Given the description of an element on the screen output the (x, y) to click on. 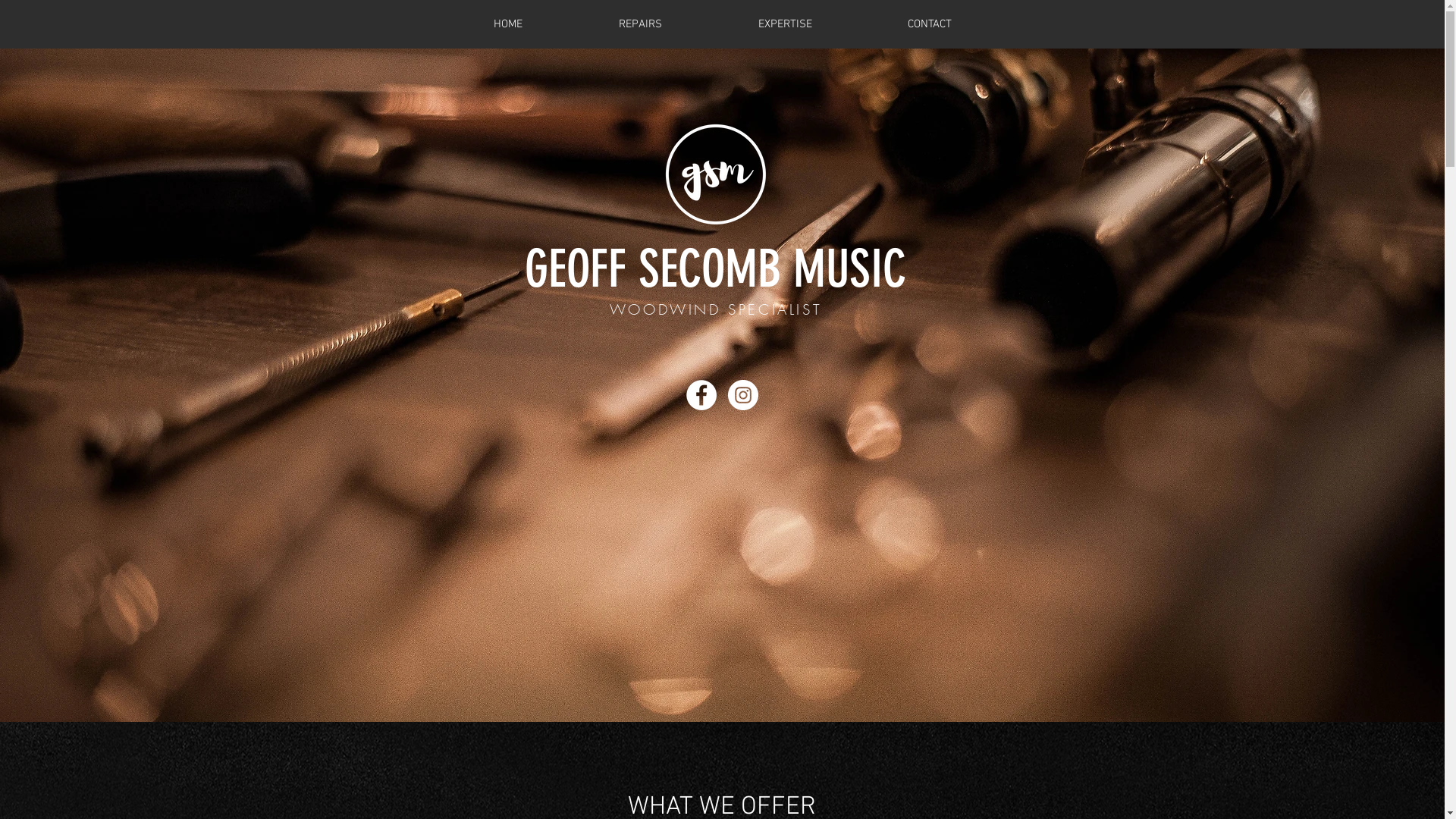
HOME Element type: text (508, 24)
EXPERTISE Element type: text (784, 24)
GEOFF SECOMB MUSIC Element type: text (715, 268)
CONTACT Element type: text (929, 24)
REPAIRS Element type: text (639, 24)
